Given the description of an element on the screen output the (x, y) to click on. 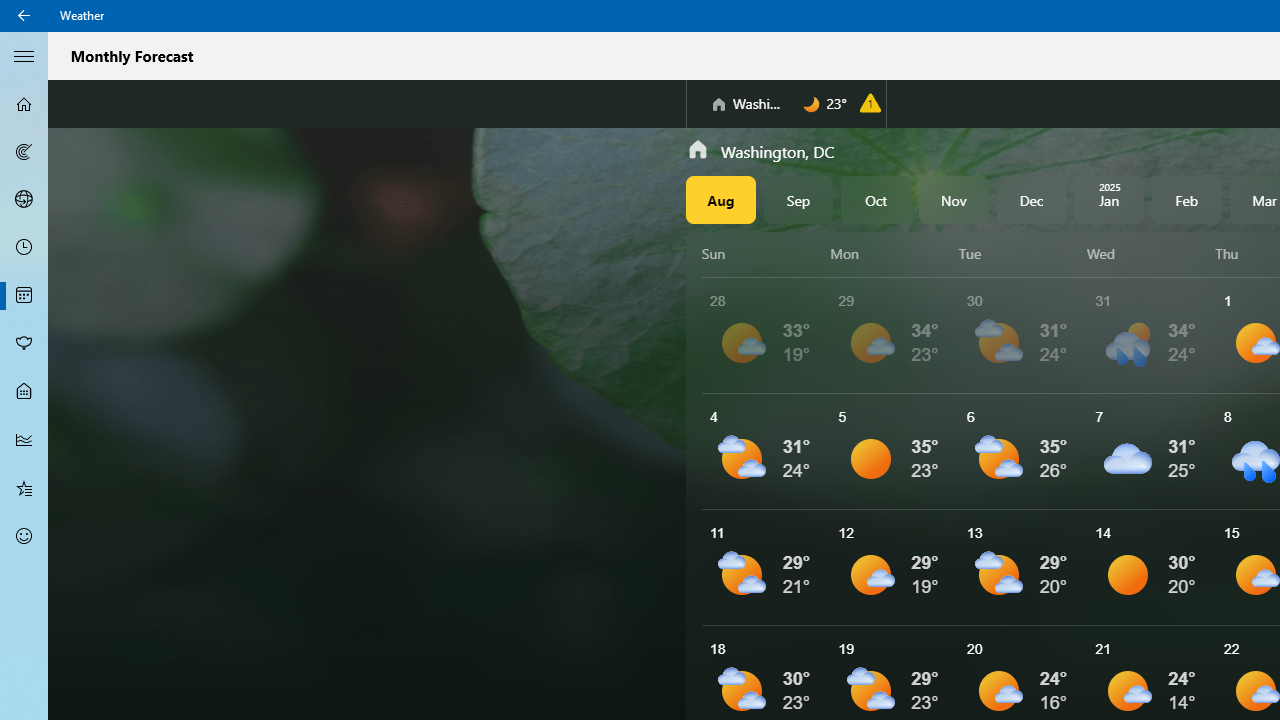
Forecast - Not Selected (24, 103)
Favorites - Not Selected (24, 487)
Monthly Forecast - Not Selected (24, 295)
Monthly Forecast - Not Selected (24, 295)
Historical Weather - Not Selected (24, 439)
Life - Not Selected (24, 391)
Collapse Navigation (24, 55)
